Given the description of an element on the screen output the (x, y) to click on. 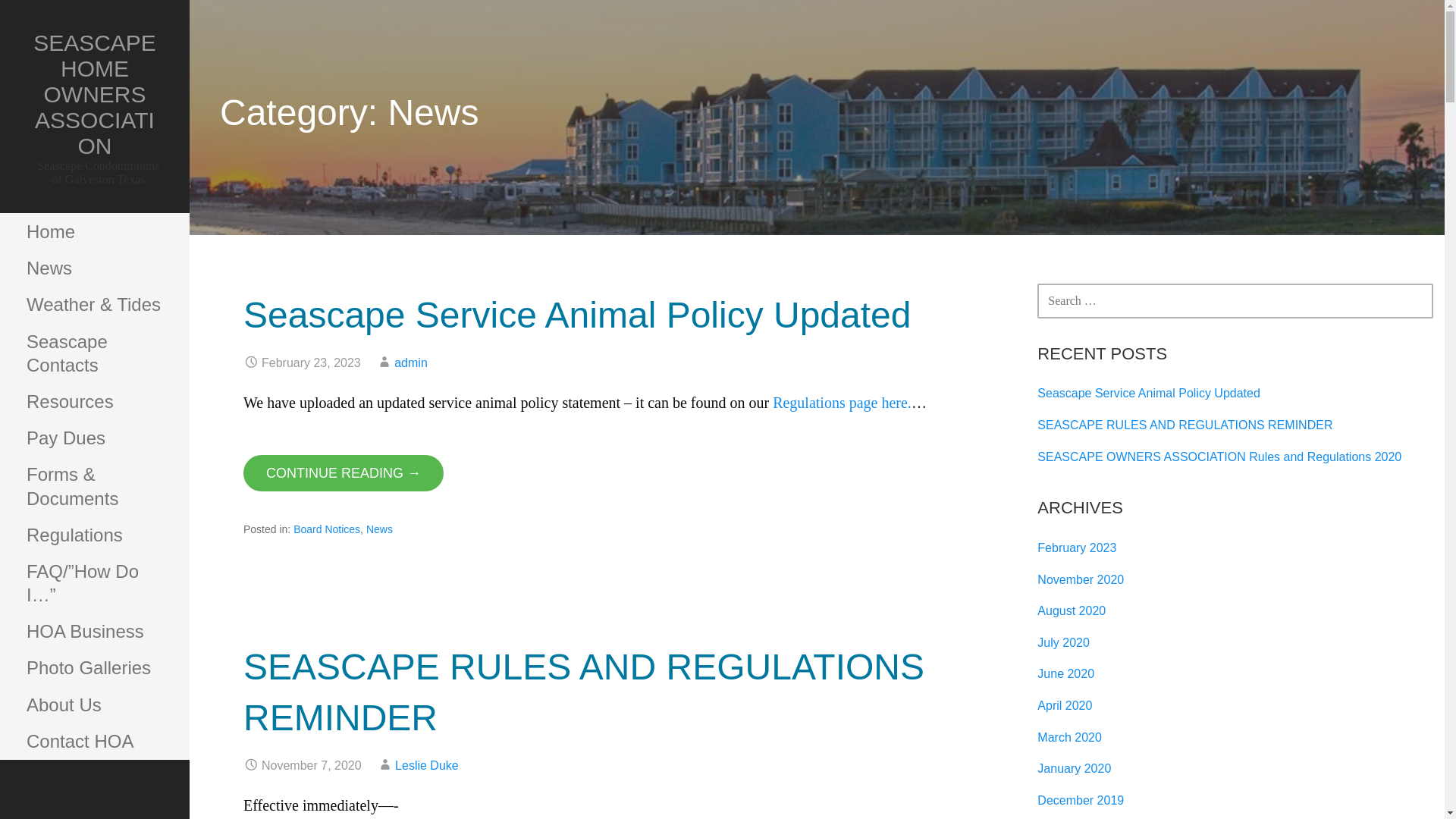
News (379, 529)
Contact HOA (94, 741)
admin (411, 362)
Regulations (94, 534)
Home (94, 231)
Photo Galleries (94, 668)
Leslie Duke (426, 765)
Regulations page here. (842, 402)
Board Notices (326, 529)
News (94, 268)
About Us (94, 705)
Seascape Contacts (94, 353)
SEASCAPE RULES AND REGULATIONS REMINDER (583, 692)
Seascape Service Animal Policy Updated (577, 314)
Resources (94, 402)
